Given the description of an element on the screen output the (x, y) to click on. 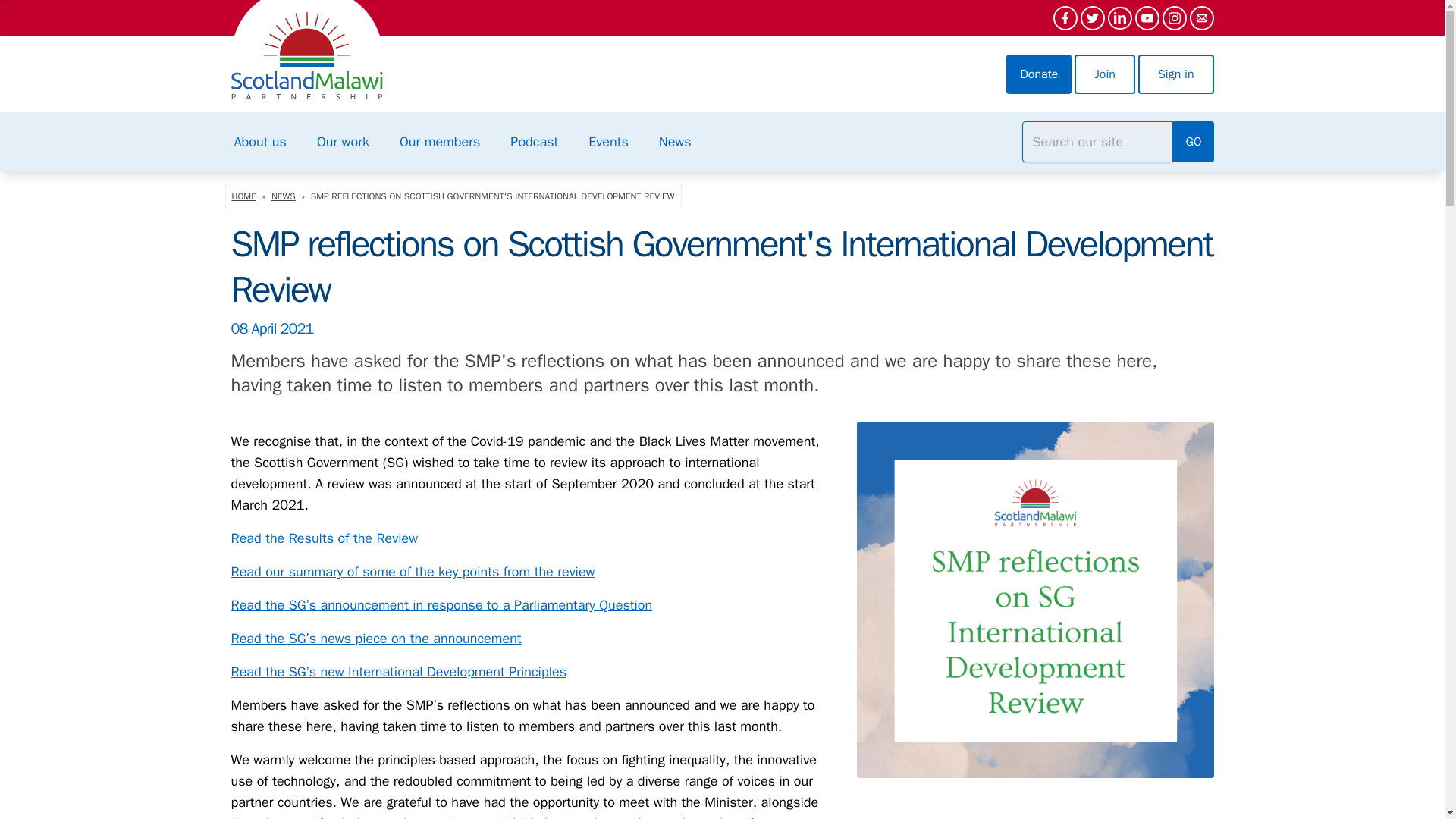
Donate (1038, 74)
Our work (342, 141)
Donate (1038, 74)
Sign in (1176, 74)
Go (1192, 141)
About us (259, 141)
Our members (439, 141)
Join (1104, 74)
